Given the description of an element on the screen output the (x, y) to click on. 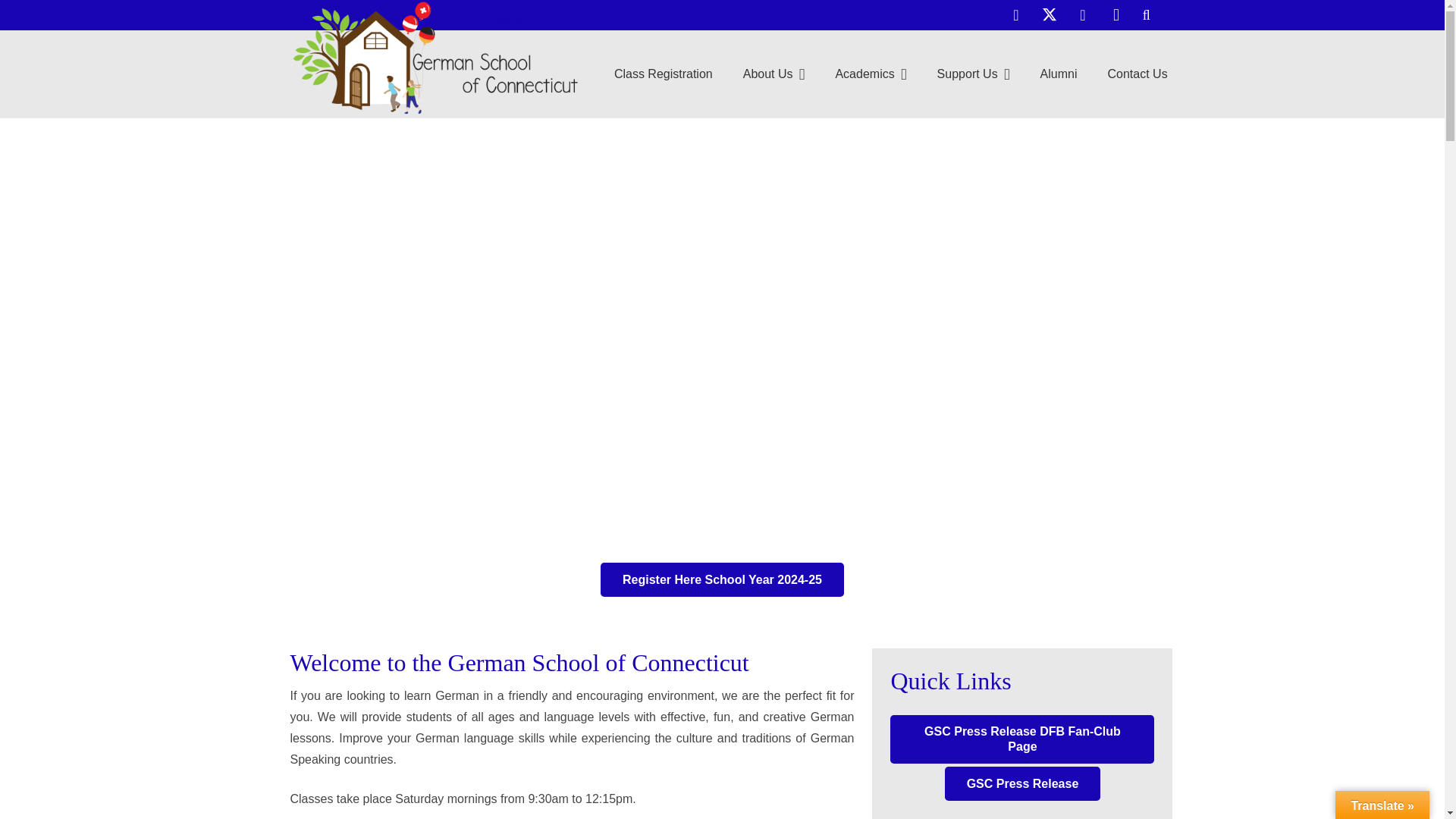
Class Registration (721, 579)
Contact Us (1137, 73)
Instagram (1115, 15)
Twitter (1048, 15)
GSC Press Release DFB Fan-Club Page (1021, 738)
LinkedIn (1082, 15)
Academics (870, 73)
Facebook (1015, 15)
GSC Press Release (1022, 783)
Support Us (973, 73)
Register Here School Year 2024-25 (721, 579)
About Us (774, 73)
Class Registration (663, 73)
